Given the description of an element on the screen output the (x, y) to click on. 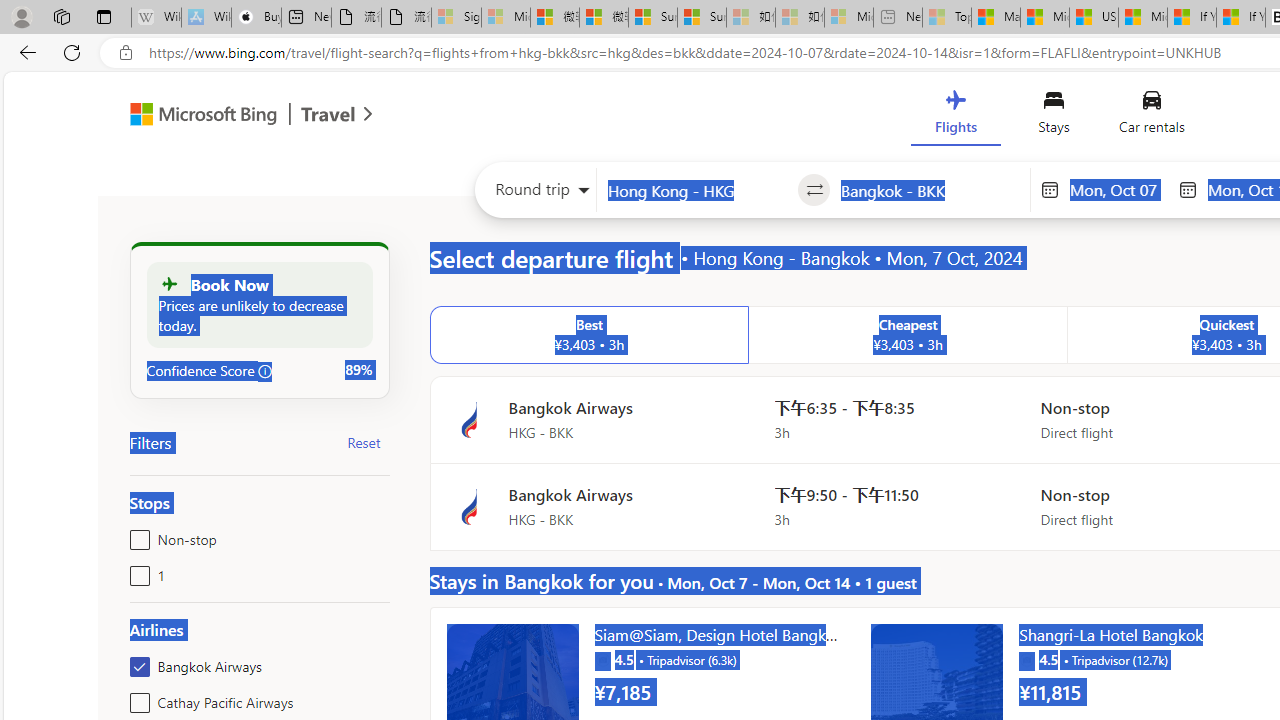
US Heat Deaths Soared To Record High Last Year (1093, 17)
Non-stop (136, 535)
Swap source and destination (813, 189)
Microsoft Services Agreement - Sleeping (505, 17)
Flights (955, 116)
Buy iPad - Apple (256, 17)
